Given the description of an element on the screen output the (x, y) to click on. 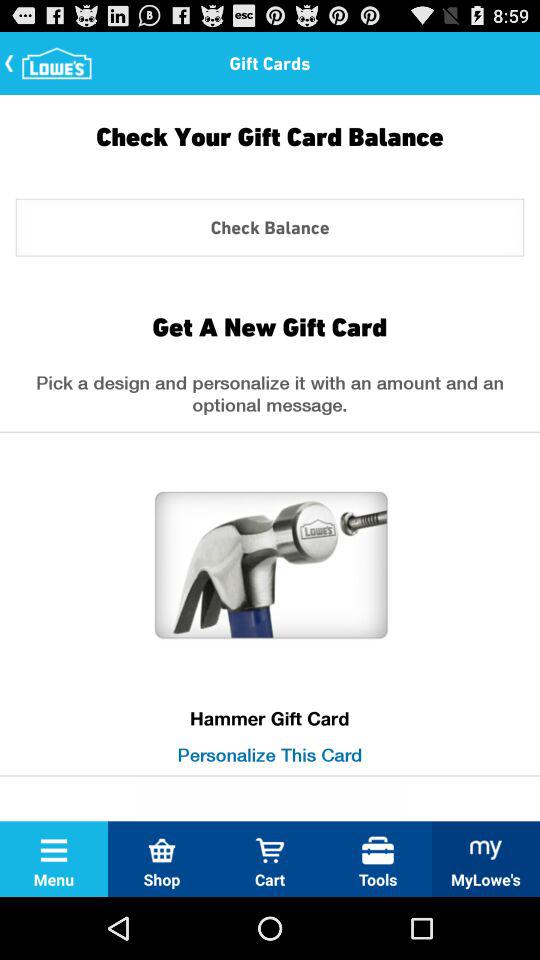
press the check your gift item (269, 151)
